Given the description of an element on the screen output the (x, y) to click on. 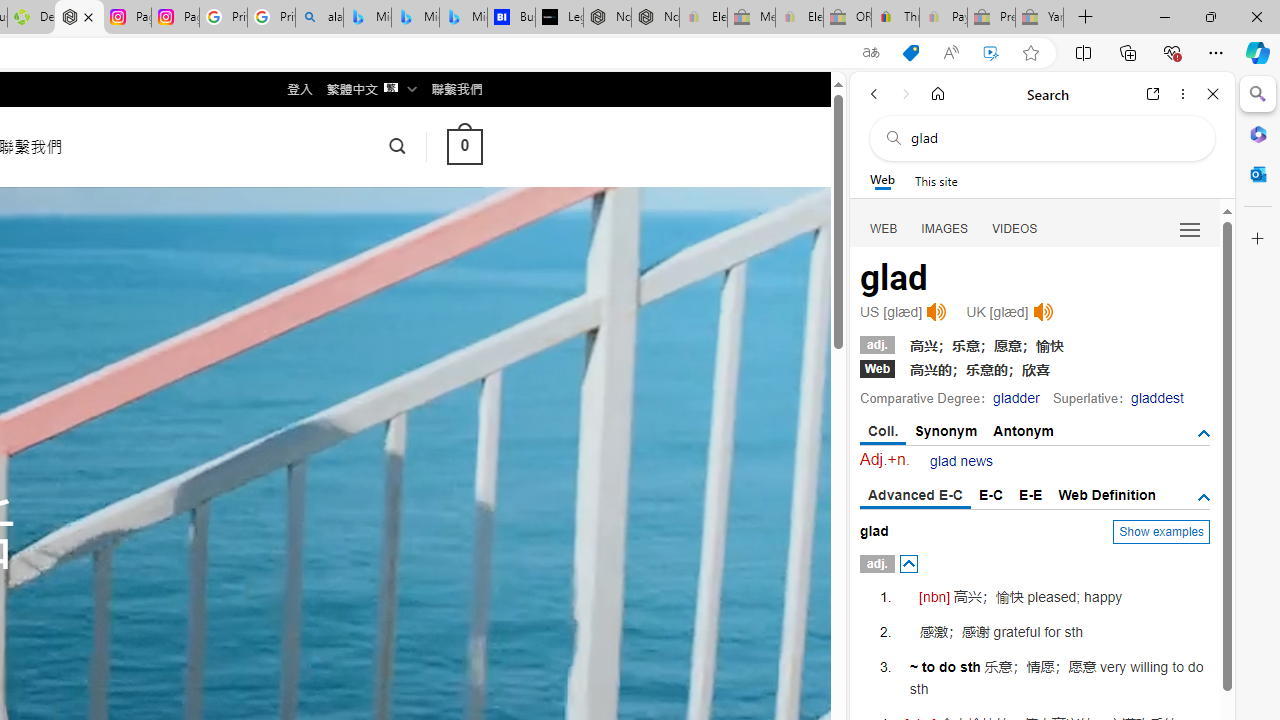
AutomationID: posbtn_0 (908, 564)
  0   (464, 146)
Payments Terms of Use | eBay.com - Sleeping (943, 17)
